Given the description of an element on the screen output the (x, y) to click on. 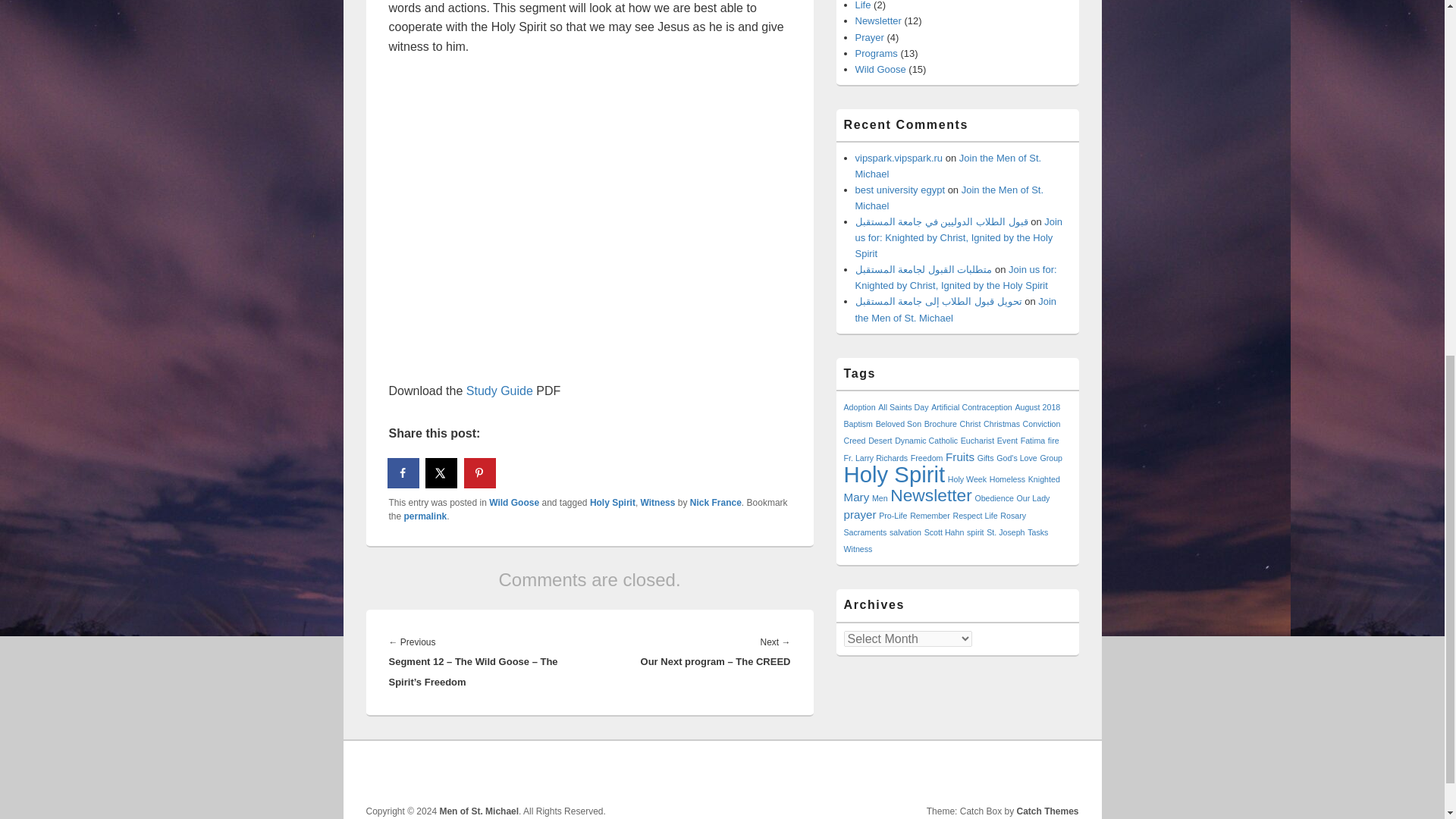
Witness (657, 502)
Share on Facebook (403, 472)
best university egypt (900, 189)
Newsletter (878, 20)
Wild Goose (880, 69)
vipspark.vipspark.ru (899, 157)
Programs (877, 52)
Nick France (715, 502)
Study Guide (498, 390)
Join the Men of St. Michael (949, 197)
